Given the description of an element on the screen output the (x, y) to click on. 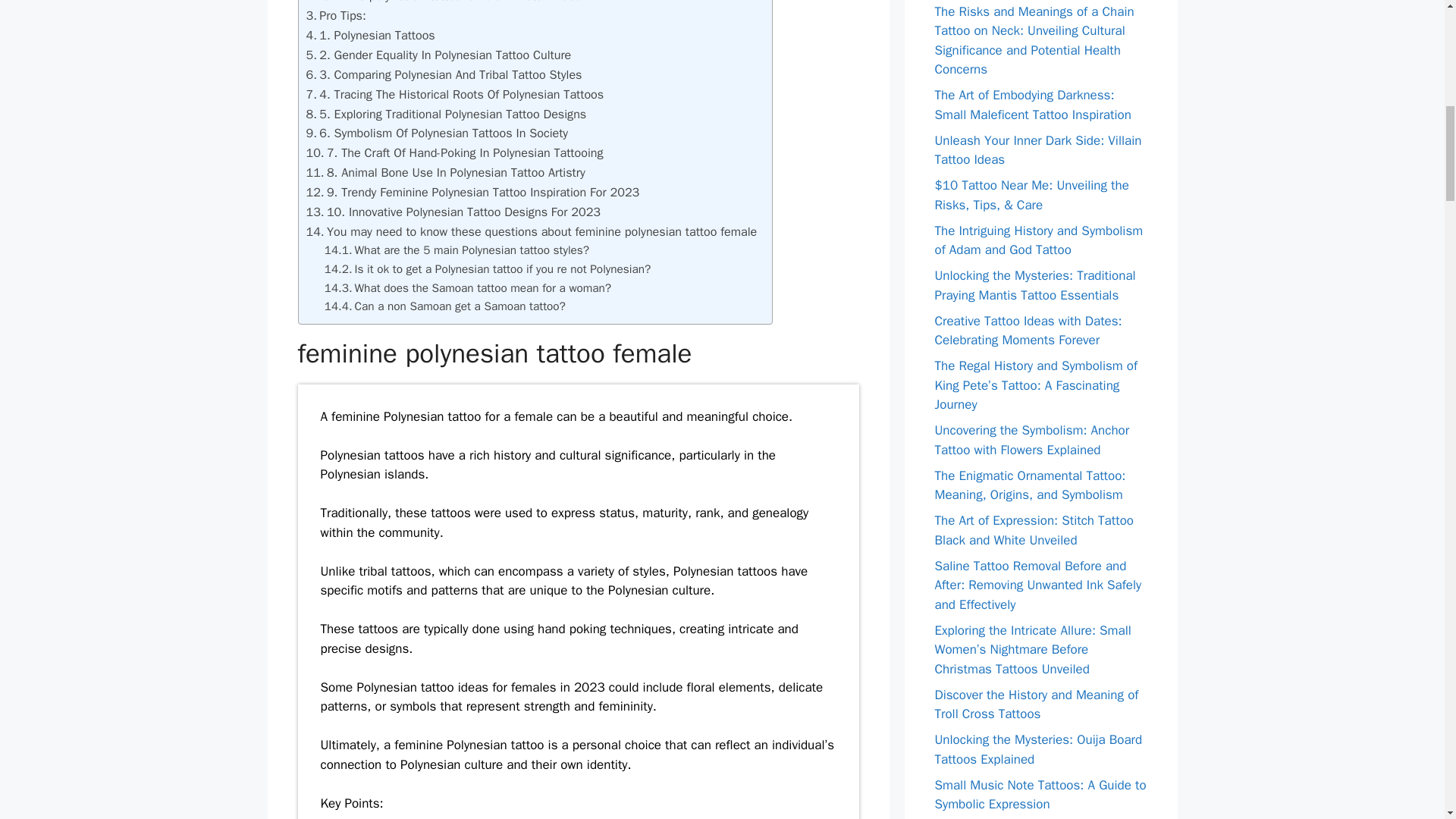
10. Innovative Polynesian Tattoo Designs For 2023 (462, 211)
7. The Craft Of Hand-Poking In Polynesian Tattooing (465, 152)
Can a non Samoan get a Samoan tattoo? (460, 305)
3. Comparing Polynesian And Tribal Tattoo Styles (449, 74)
What does the Samoan tattoo mean for a woman? (483, 287)
4. Tracing The Historical Roots Of Polynesian Tattoos (461, 94)
5. Exploring Traditional Polynesian Tattoo Designs (452, 114)
9. Trendy Feminine Polynesian Tattoo Inspiration For 2023 (482, 191)
Pro Tips: (342, 15)
8. Animal Bone Use In Polynesian Tattoo Artistry (455, 172)
4. Tracing The Historical Roots Of Polynesian Tattoos (461, 94)
7. The Craft Of Hand-Poking In Polynesian Tattooing (465, 152)
10. Innovative Polynesian Tattoo Designs For 2023 (462, 211)
Pro Tips: (342, 15)
